Given the description of an element on the screen output the (x, y) to click on. 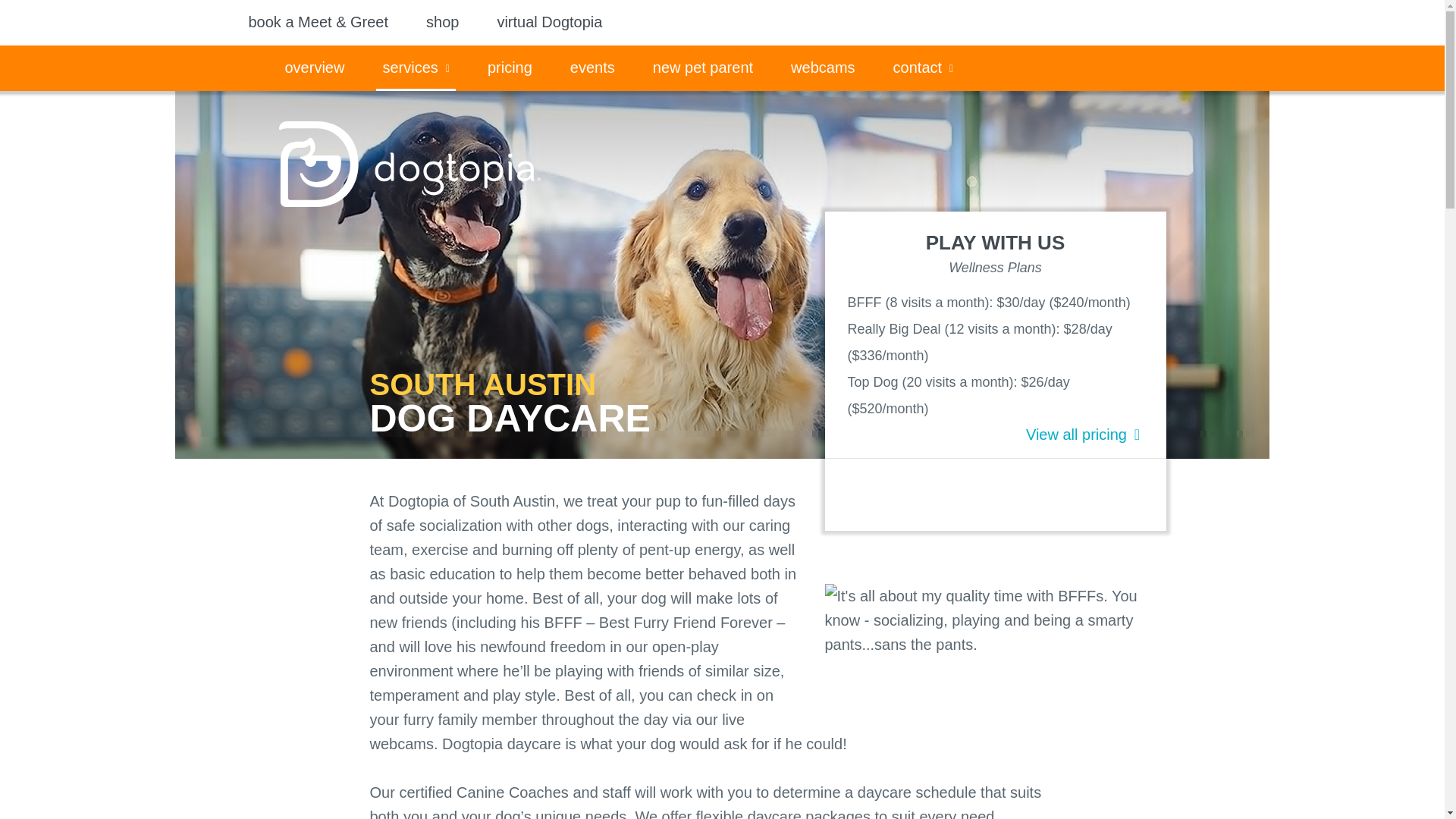
services (414, 67)
virtual Dogtopia (549, 24)
events (592, 67)
overview (314, 67)
pricing (509, 67)
contact (922, 67)
shop (442, 24)
new pet parent (702, 67)
webcams (822, 67)
